Given the description of an element on the screen output the (x, y) to click on. 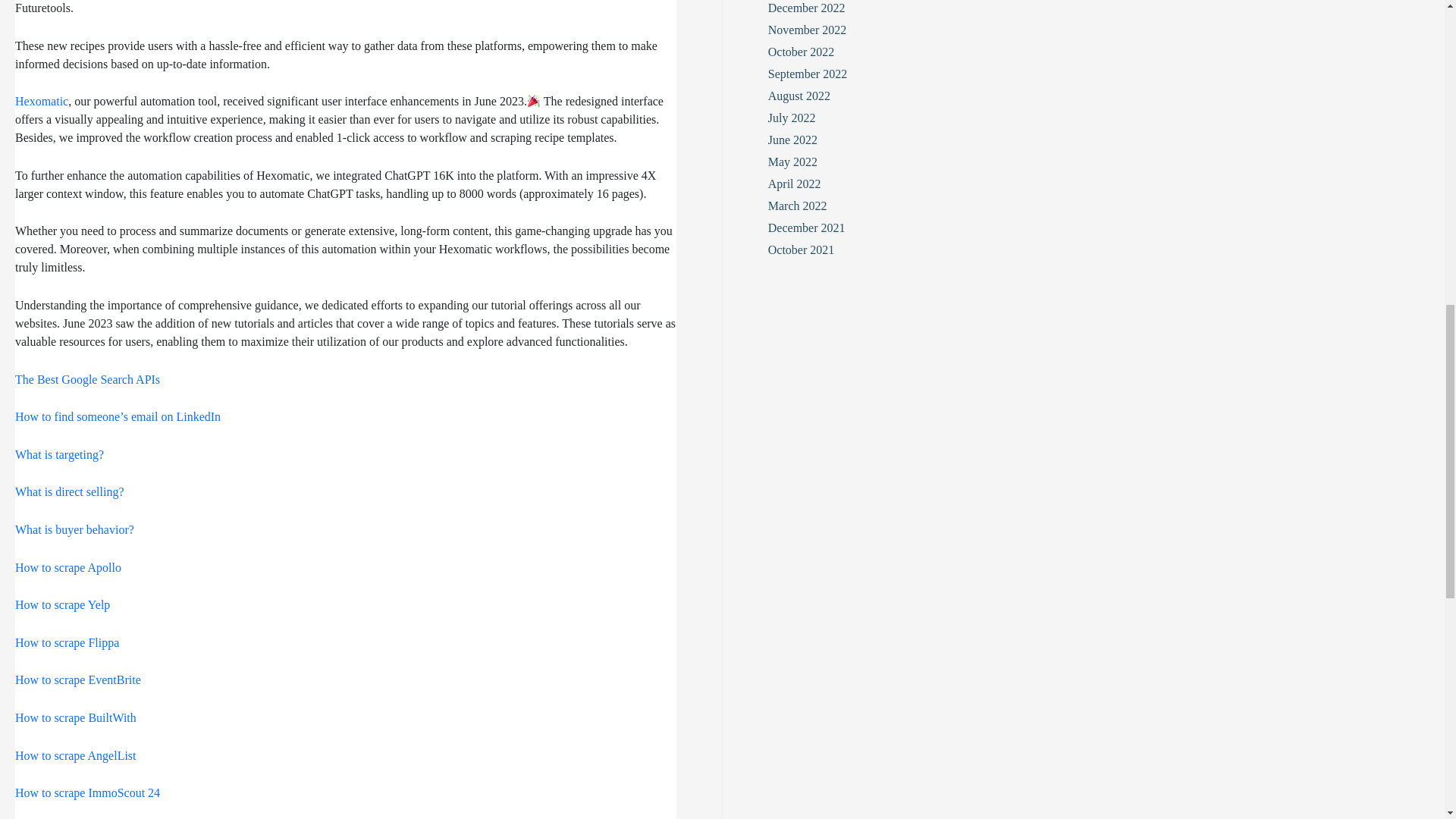
What is direct selling? (68, 494)
How to scrape Yelp (62, 606)
tic (62, 102)
How to scrape BuiltWith (75, 719)
How to scrape ImmoScout 24 (87, 794)
What is buyer behavior? (73, 531)
What is targeting? (58, 456)
The Best Google Search APIs (87, 381)
How to scrape EventBrite (77, 682)
Hexom (32, 102)
